Given the description of an element on the screen output the (x, y) to click on. 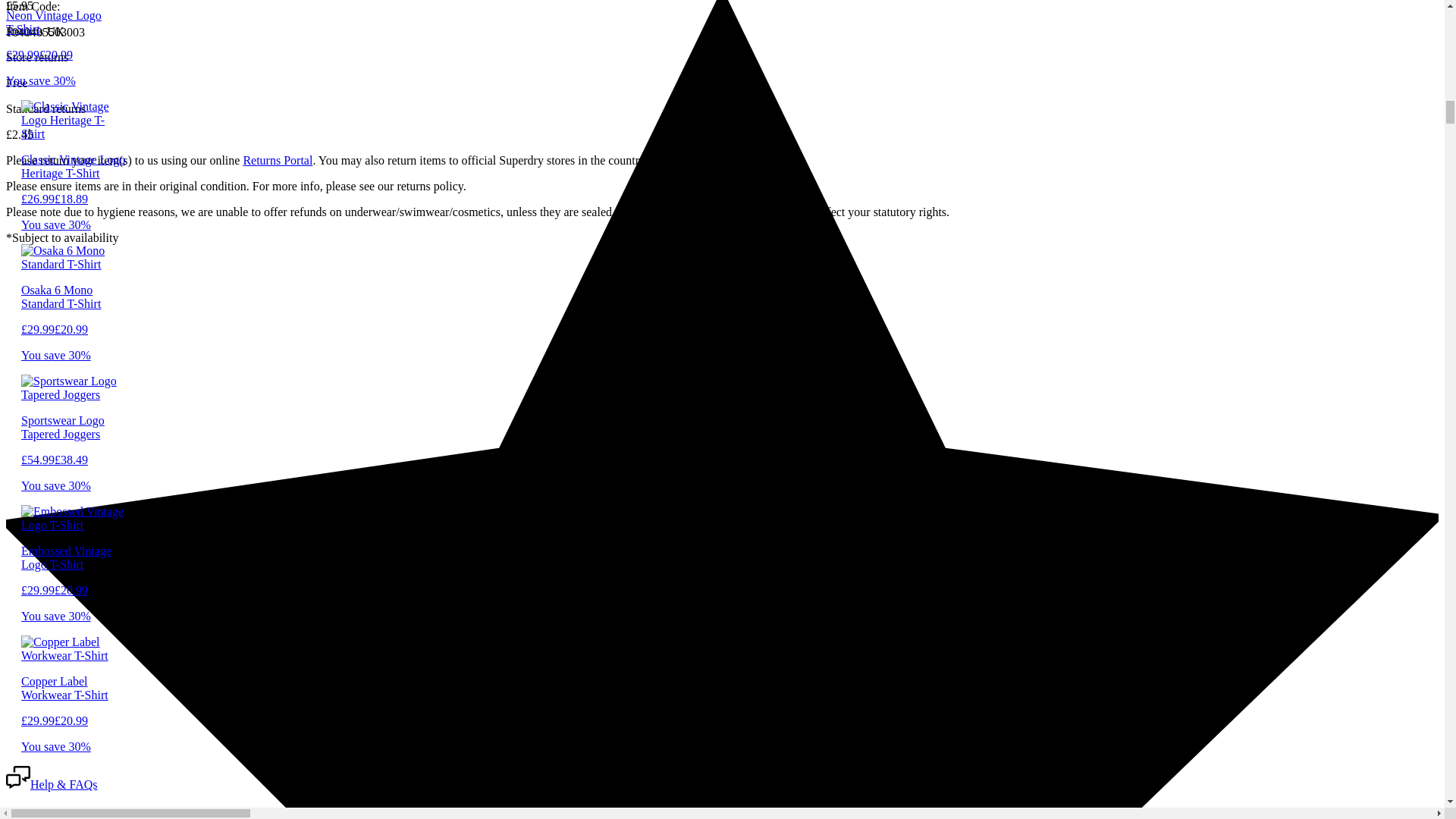
Sportswear Logo Tapered Joggers (74, 440)
Classic Vintage Logo Heritage T-Shirt (74, 179)
Returns Portal (278, 160)
Osaka 6 Mono Standard T-Shirt (74, 309)
Neon Vintage Logo T-Shirt (58, 35)
